Given the description of an element on the screen output the (x, y) to click on. 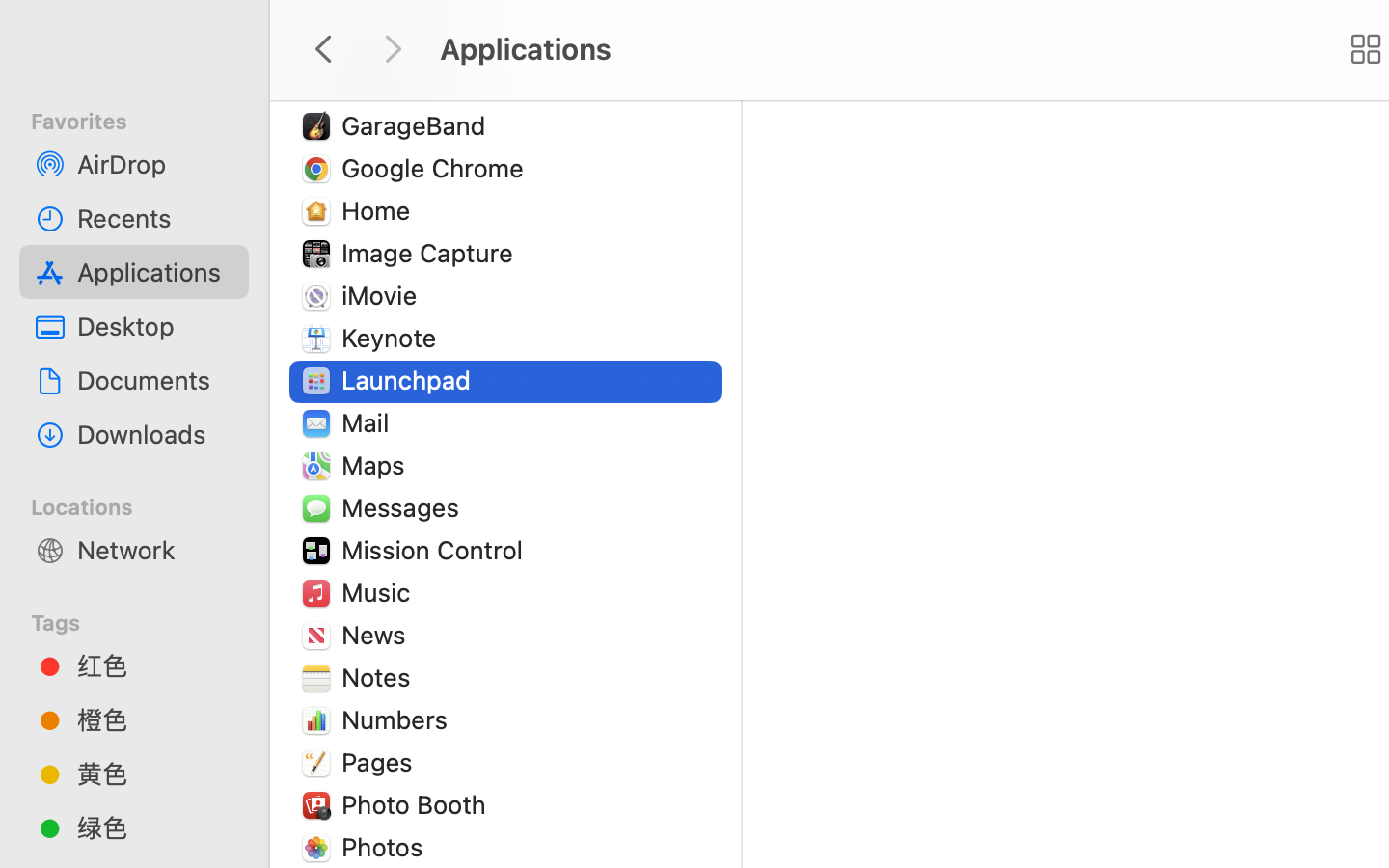
AirDrop Element type: AXStaticText (155, 163)
iMovie Element type: AXTextField (383, 294)
绿色 Element type: AXStaticText (155, 827)
Photos Element type: AXTextField (386, 846)
Desktop Element type: AXStaticText (155, 325)
